Given the description of an element on the screen output the (x, y) to click on. 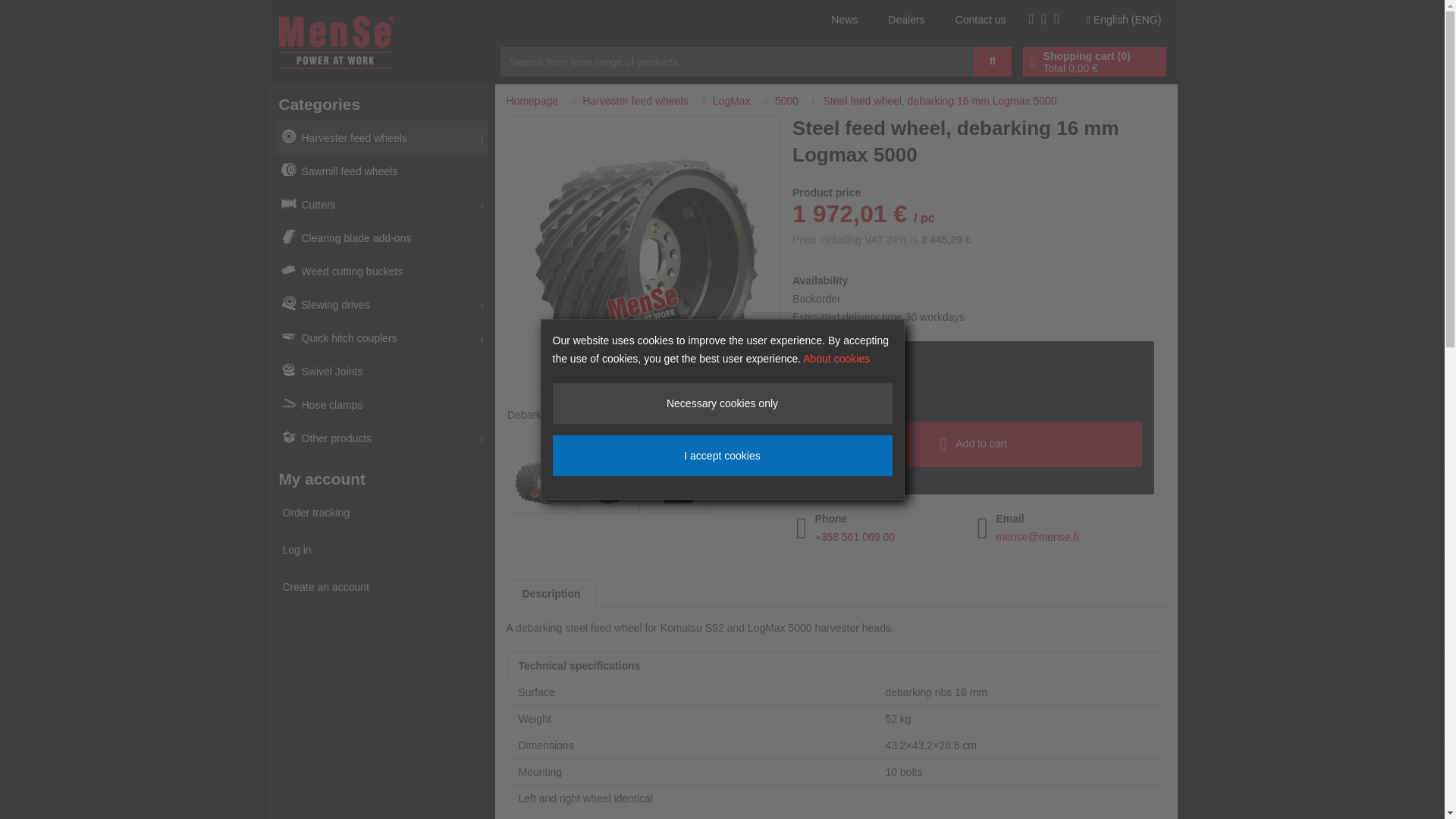
Change language (1123, 19)
Dealers (906, 19)
Contact us (980, 19)
MenSe Oy (336, 41)
Harvester feed wheels (380, 137)
Search (992, 61)
News (844, 19)
Dealers (906, 19)
Contact us (980, 19)
News (844, 19)
Harvester feed wheels (380, 137)
